Given the description of an element on the screen output the (x, y) to click on. 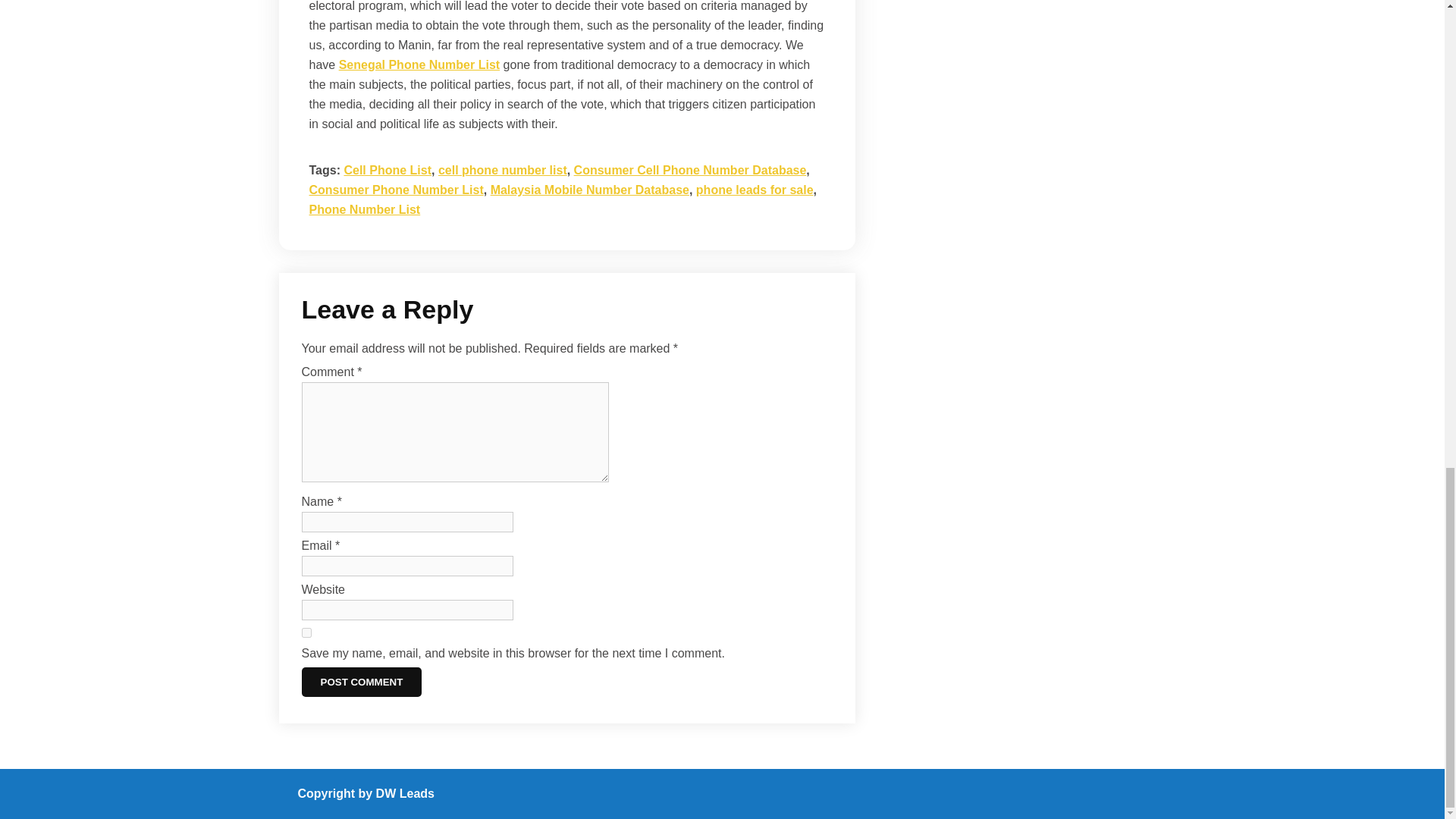
Malaysia Mobile Number Database (589, 189)
Phone Number List (364, 209)
Consumer Phone Number List (395, 189)
cell phone number list (502, 169)
Consumer Cell Phone Number Database (689, 169)
Post Comment (361, 681)
phone leads for sale (754, 189)
Cell Phone List (386, 169)
Post Comment (361, 681)
yes (306, 633)
Senegal Phone Number List (419, 64)
